Given the description of an element on the screen output the (x, y) to click on. 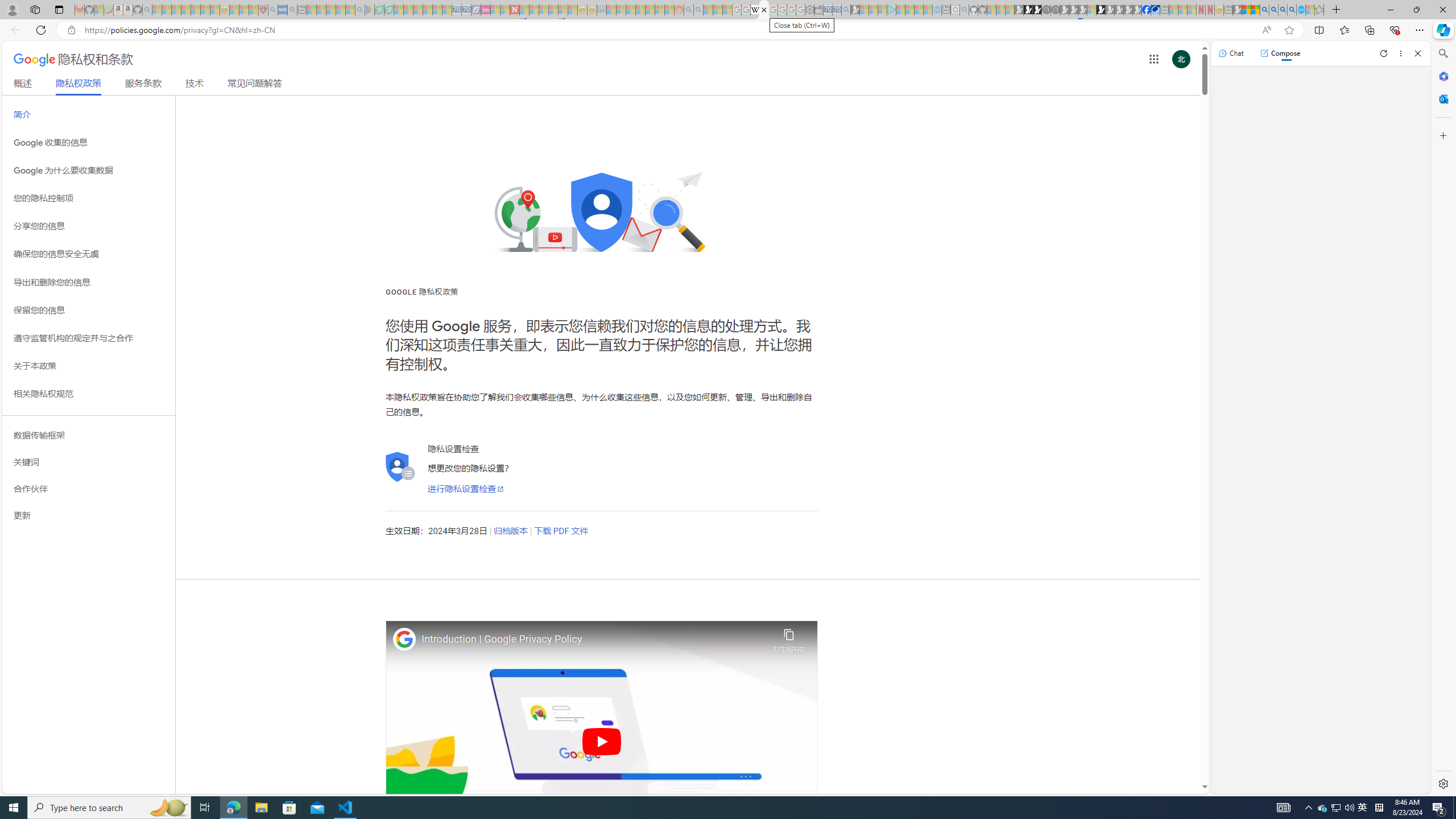
Bing AI - Search (1264, 9)
